Given the description of an element on the screen output the (x, y) to click on. 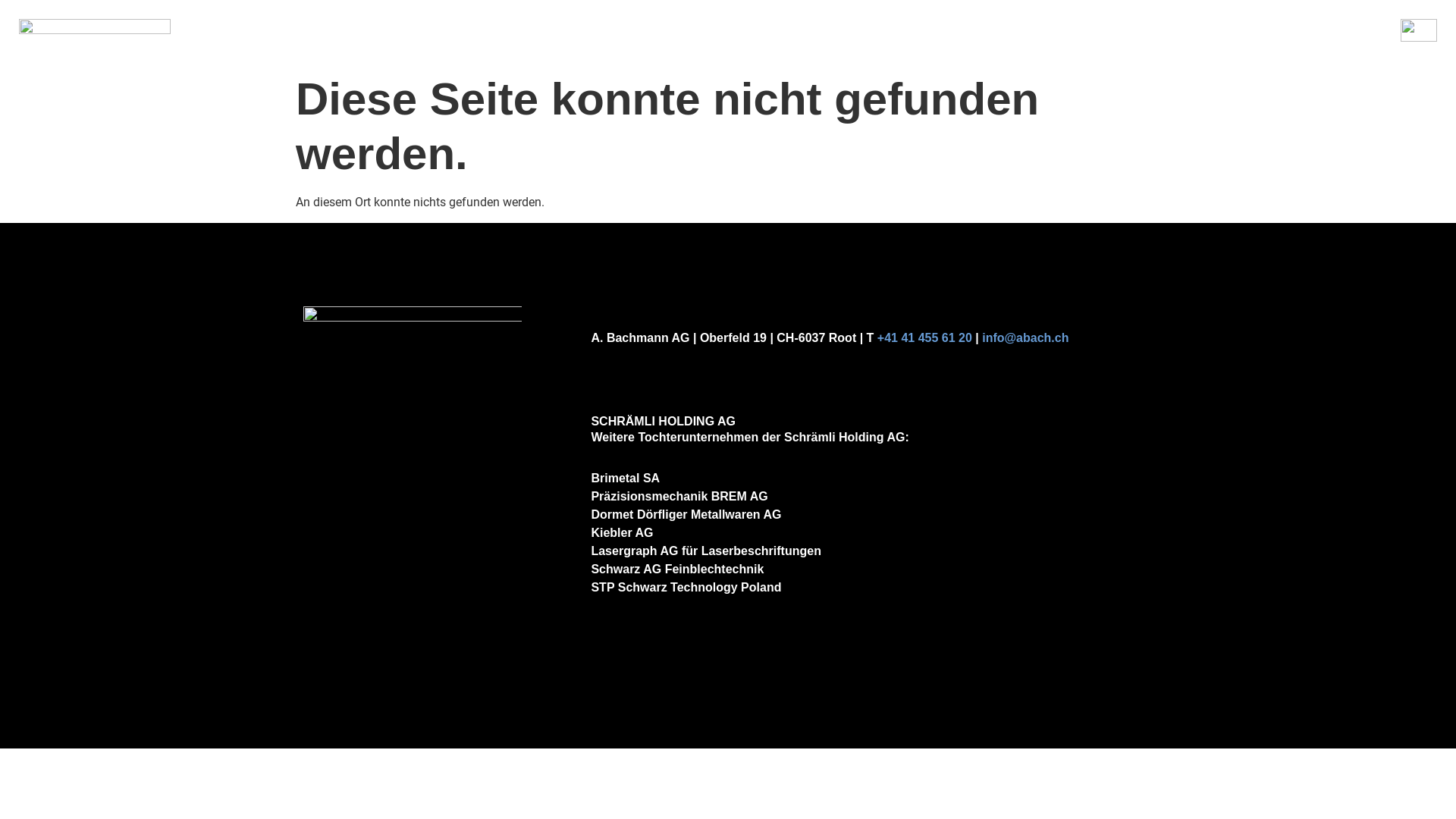
STP Schwarz Technology Poland Element type: text (685, 586)
Brimetal SA Element type: text (624, 477)
info@abach.ch Element type: text (1025, 337)
+41 41 455 61 20 Element type: text (924, 337)
Kiebler AG Element type: text (621, 532)
Schwarz AG Feinblechtechnik Element type: text (676, 568)
